Given the description of an element on the screen output the (x, y) to click on. 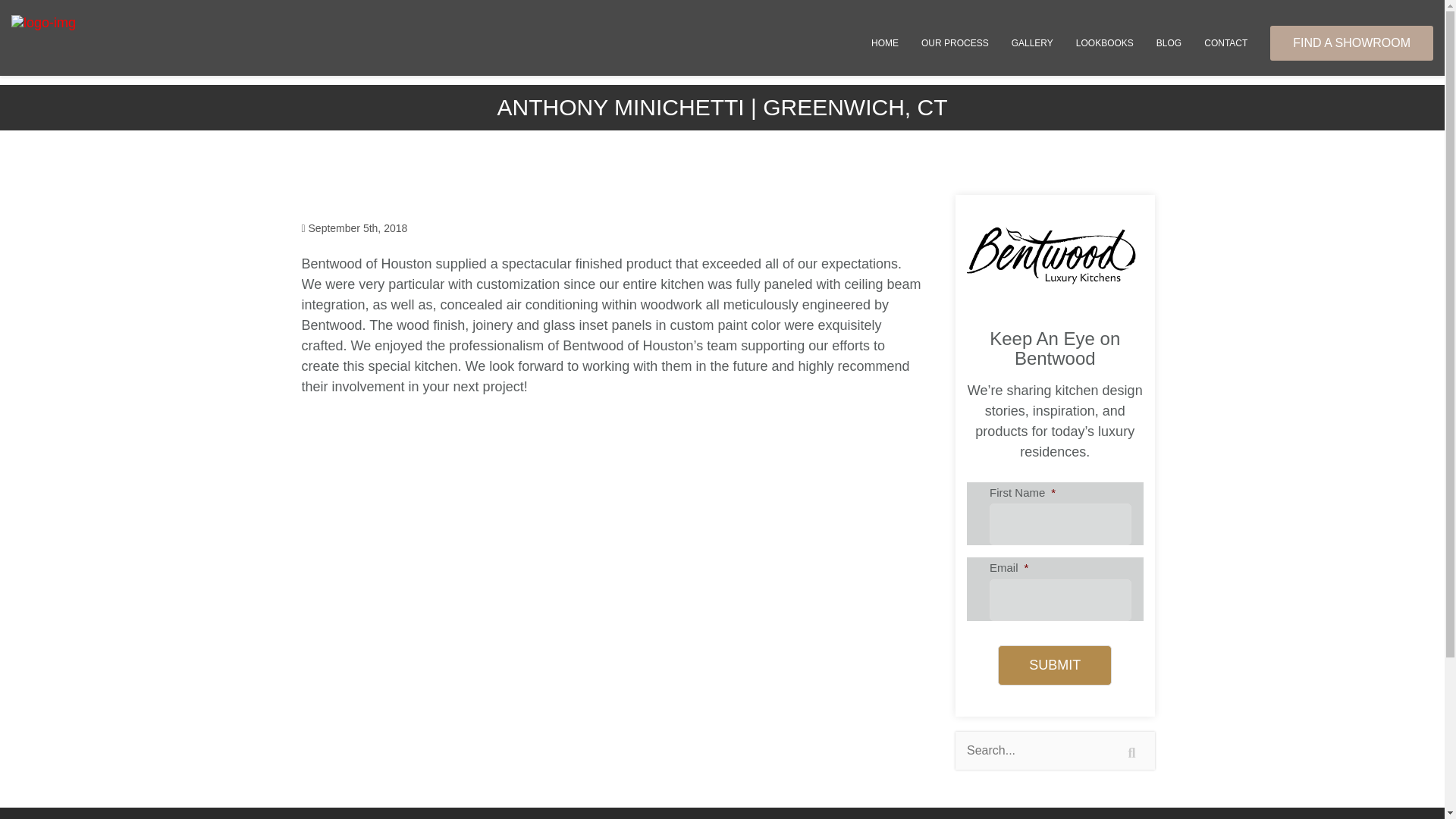
GALLERY (1032, 42)
OUR PROCESS (955, 42)
FIND A SHOWROOM (1350, 42)
Contact (1225, 42)
CONTACT (1225, 42)
Submit (1054, 665)
Home (885, 42)
Blog (1168, 42)
HOME (885, 42)
Gallery (1032, 42)
Find A Showroom (1350, 42)
BLOG (1168, 42)
September 5th, 2018 (354, 227)
LOOKBOOKS (1104, 42)
Submit (1054, 665)
